Given the description of an element on the screen output the (x, y) to click on. 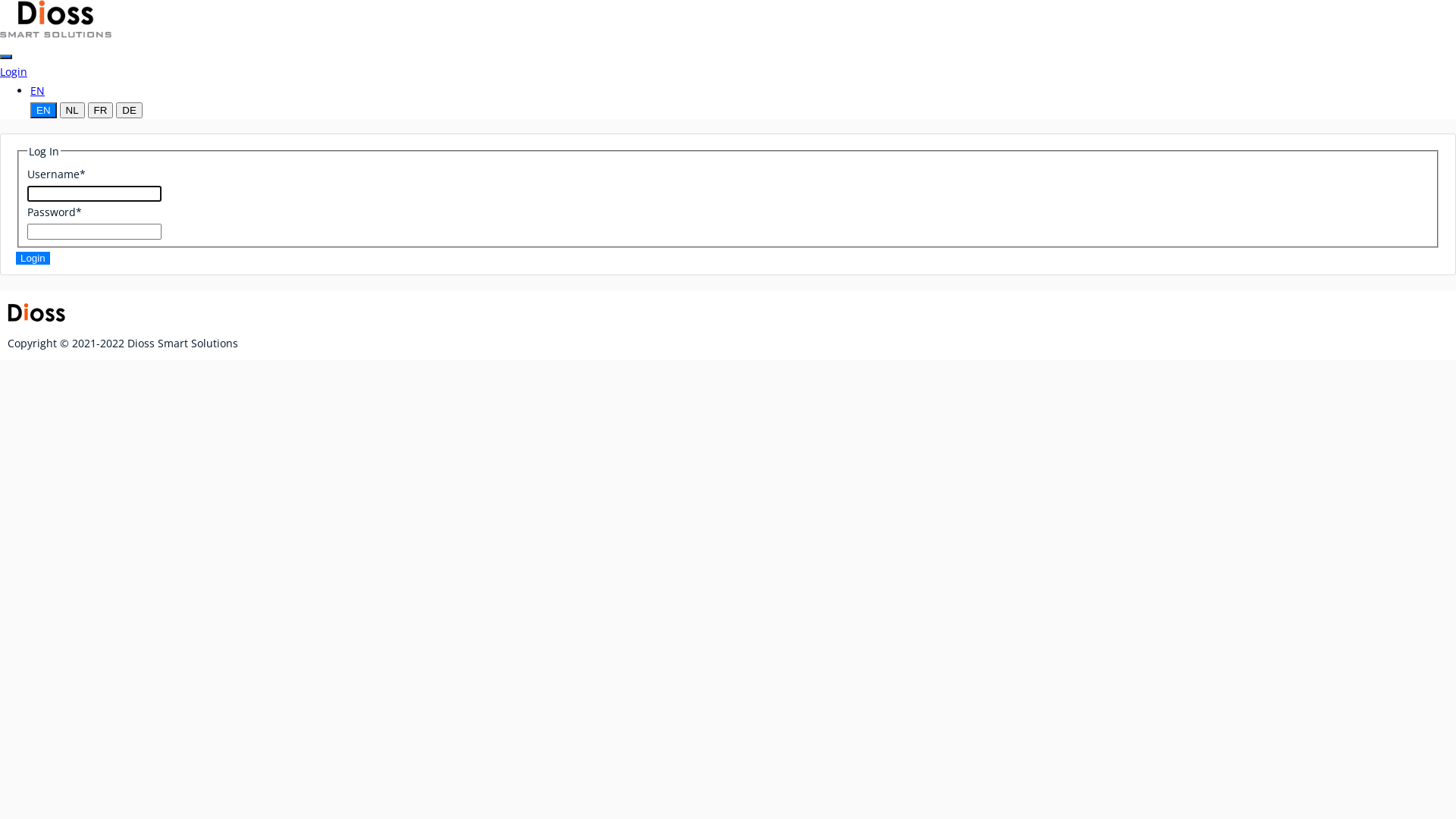
EN Element type: text (43, 110)
DE Element type: text (129, 110)
Login Element type: text (32, 257)
NL Element type: text (71, 110)
FR Element type: text (100, 110)
License server version 1.0.1.1 Element type: hover (55, 18)
Login Element type: text (13, 71)
EN Element type: text (37, 90)
